Given the description of an element on the screen output the (x, y) to click on. 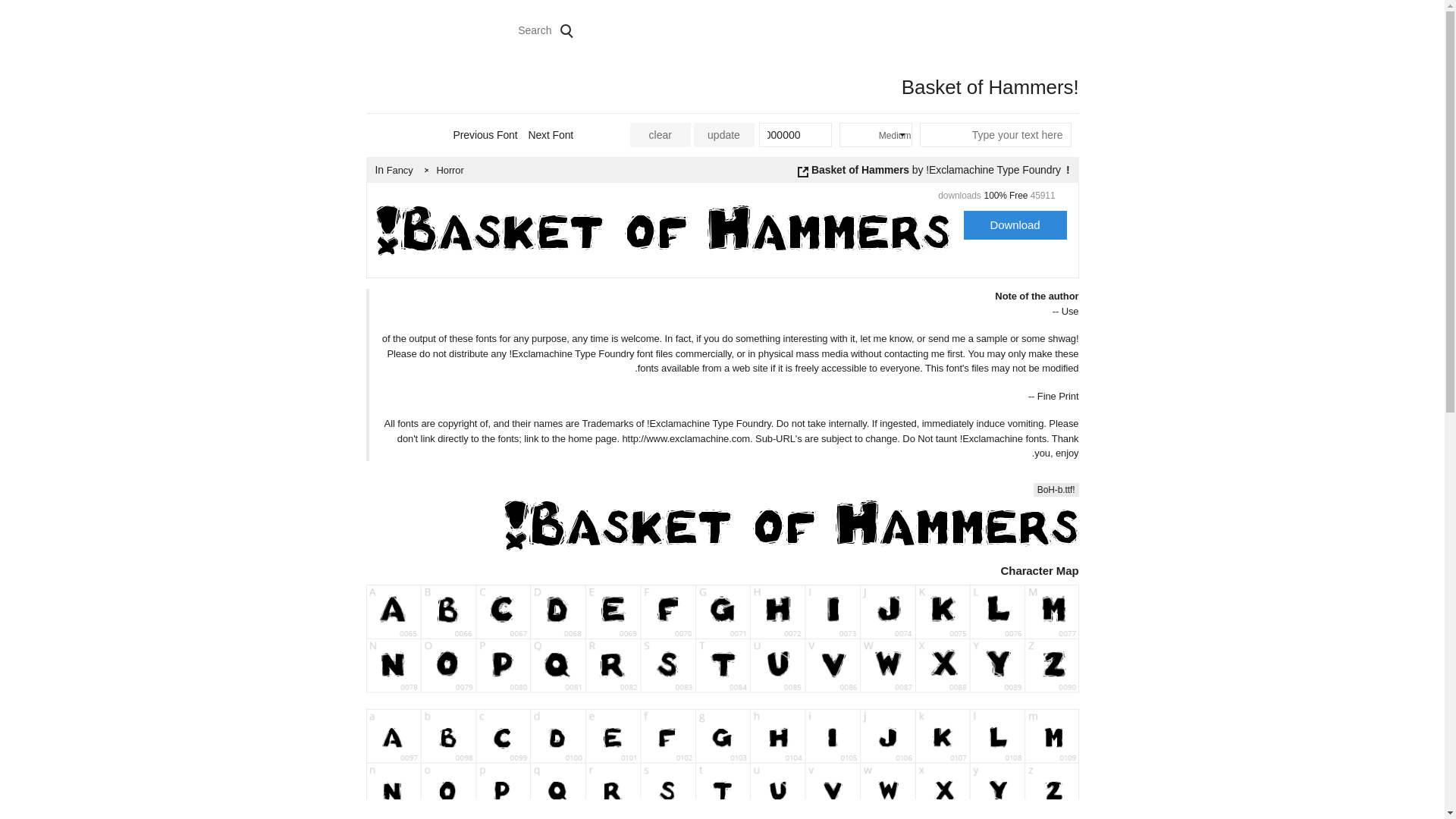
clear (660, 134)
Designers (816, 29)
!Exclamachine Type Foundry (993, 169)
!Basket of Hammers (939, 169)
En (392, 29)
Submit a font (901, 29)
update (723, 134)
Previous Font (518, 134)
Recent Fonts (651, 29)
Fontsly - Free Font Downloads (1044, 29)
